Given the description of an element on the screen output the (x, y) to click on. 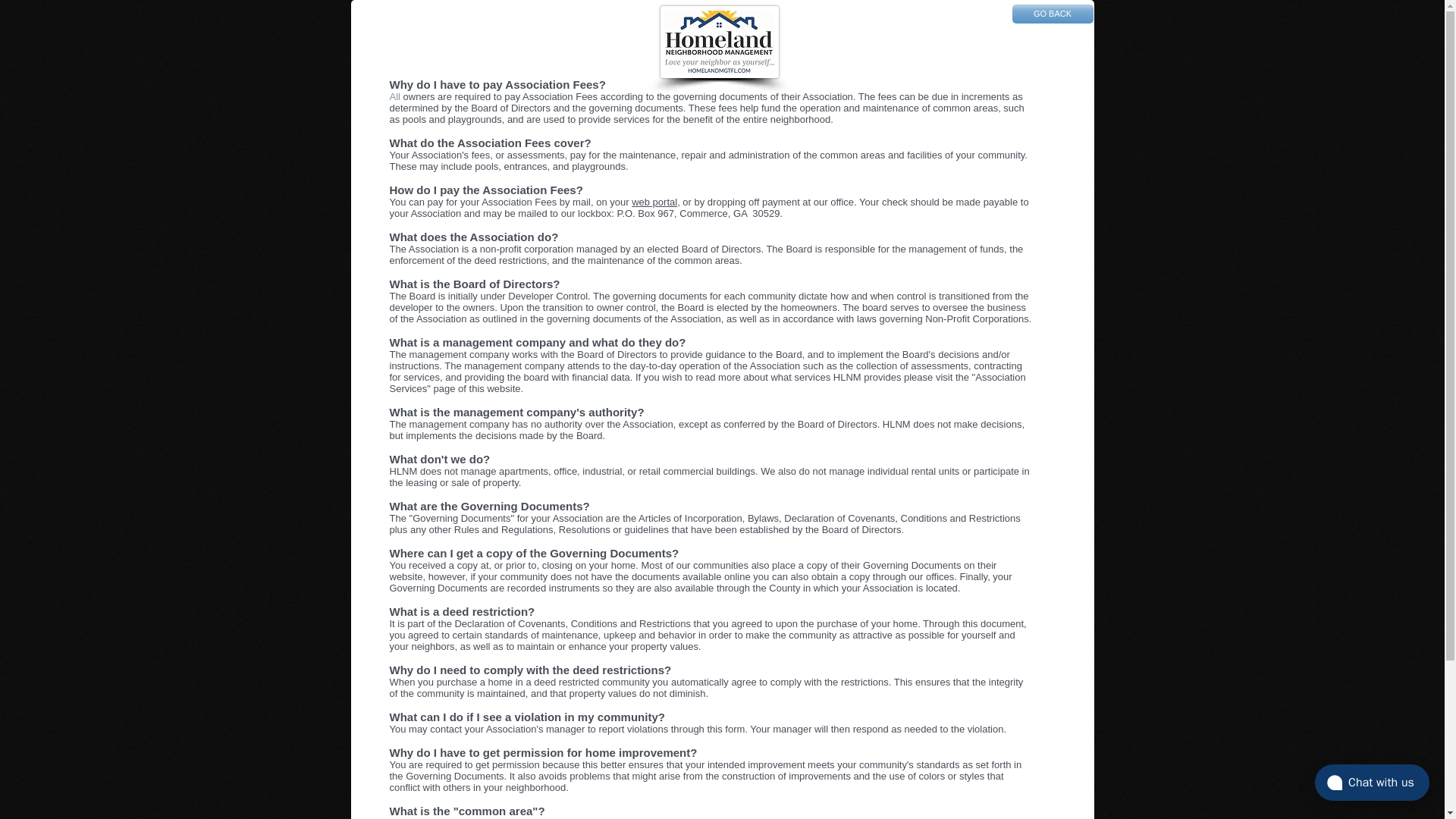
Open chat window (1371, 782)
web portal (654, 202)
GO BACK (1052, 13)
Chat with us (1371, 782)
